Given the description of an element on the screen output the (x, y) to click on. 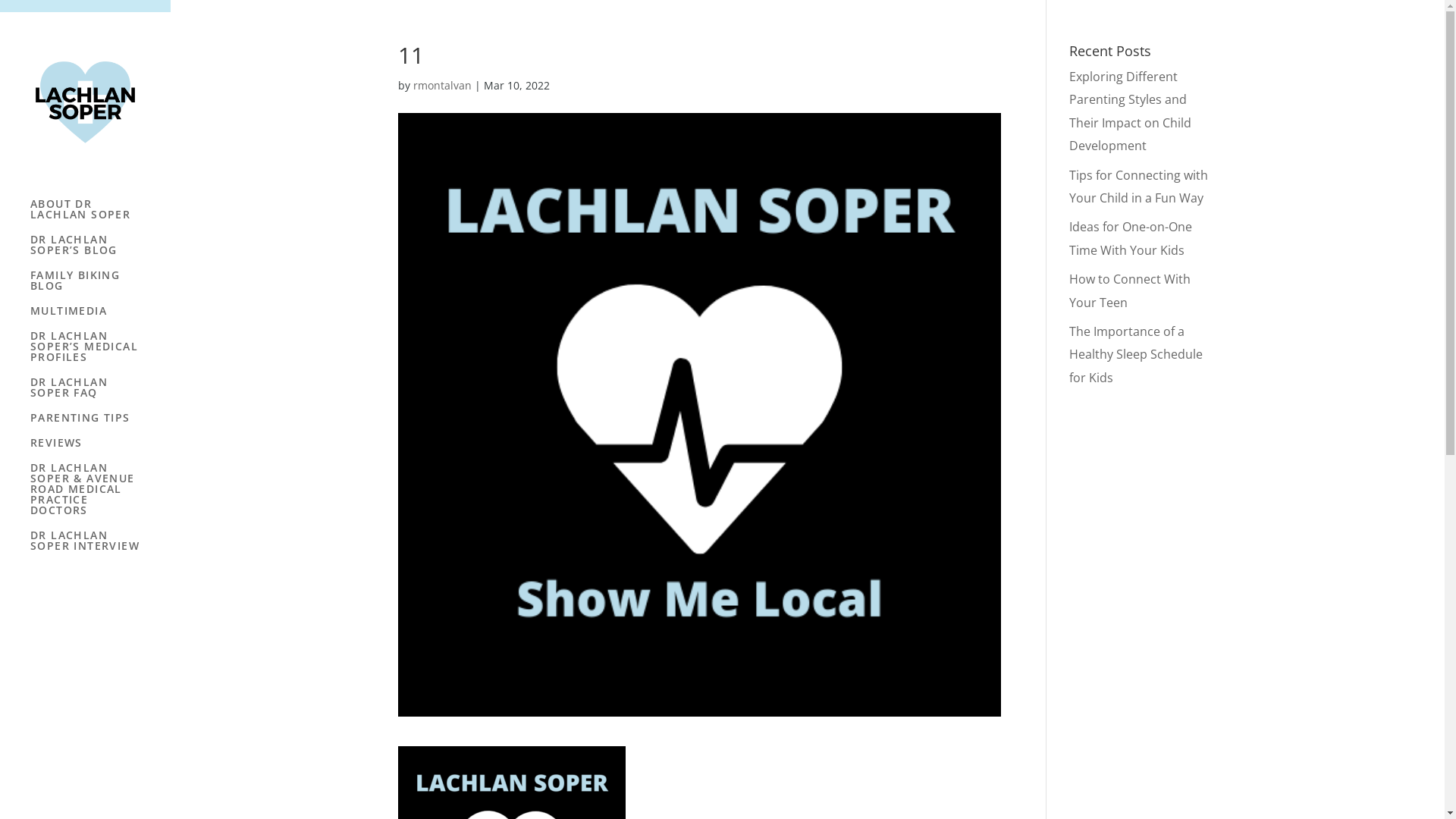
Ideas for One-on-One Time With Your Kids Element type: text (1130, 237)
FAMILY BIKING BLOG Element type: text (100, 287)
MULTIMEDIA Element type: text (100, 317)
rmontalvan Element type: text (442, 85)
How to Connect With Your Teen Element type: text (1129, 290)
DR LACHLAN SOPER & AVENUE ROAD MEDICAL PRACTICE DOCTORS Element type: text (100, 496)
DR LACHLAN SOPER INTERVIEW Element type: text (100, 547)
PARENTING TIPS Element type: text (100, 424)
The Importance of a Healthy Sleep Schedule for Kids Element type: text (1135, 354)
DR LACHLAN SOPER FAQ Element type: text (100, 394)
REVIEWS Element type: text (100, 449)
Tips for Connecting with Your Child in a Fun Way Element type: text (1138, 186)
ABOUT DR LACHLAN SOPER Element type: text (100, 216)
